Given the description of an element on the screen output the (x, y) to click on. 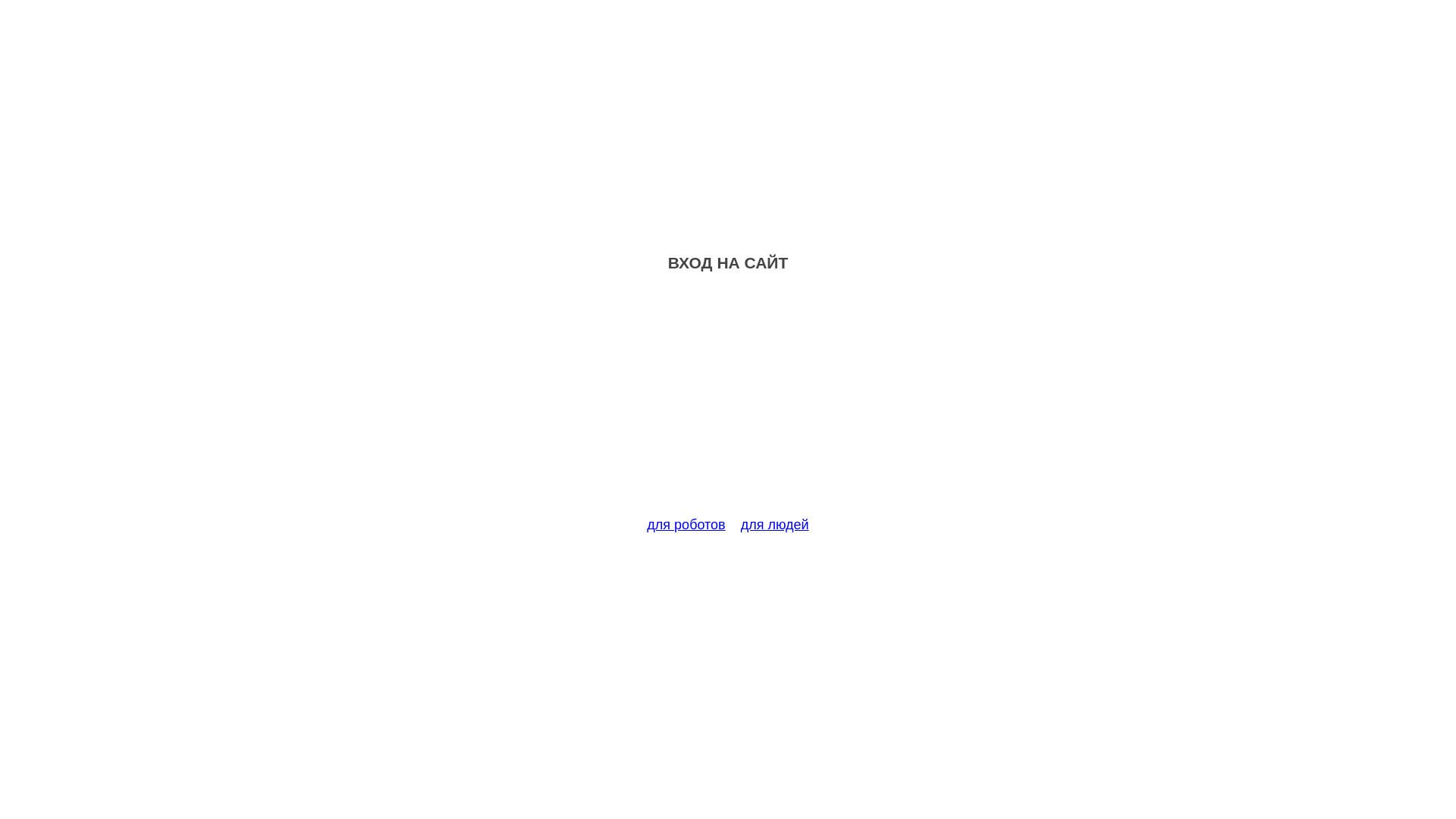
Advertisement Element type: hover (727, 403)
